Given the description of an element on the screen output the (x, y) to click on. 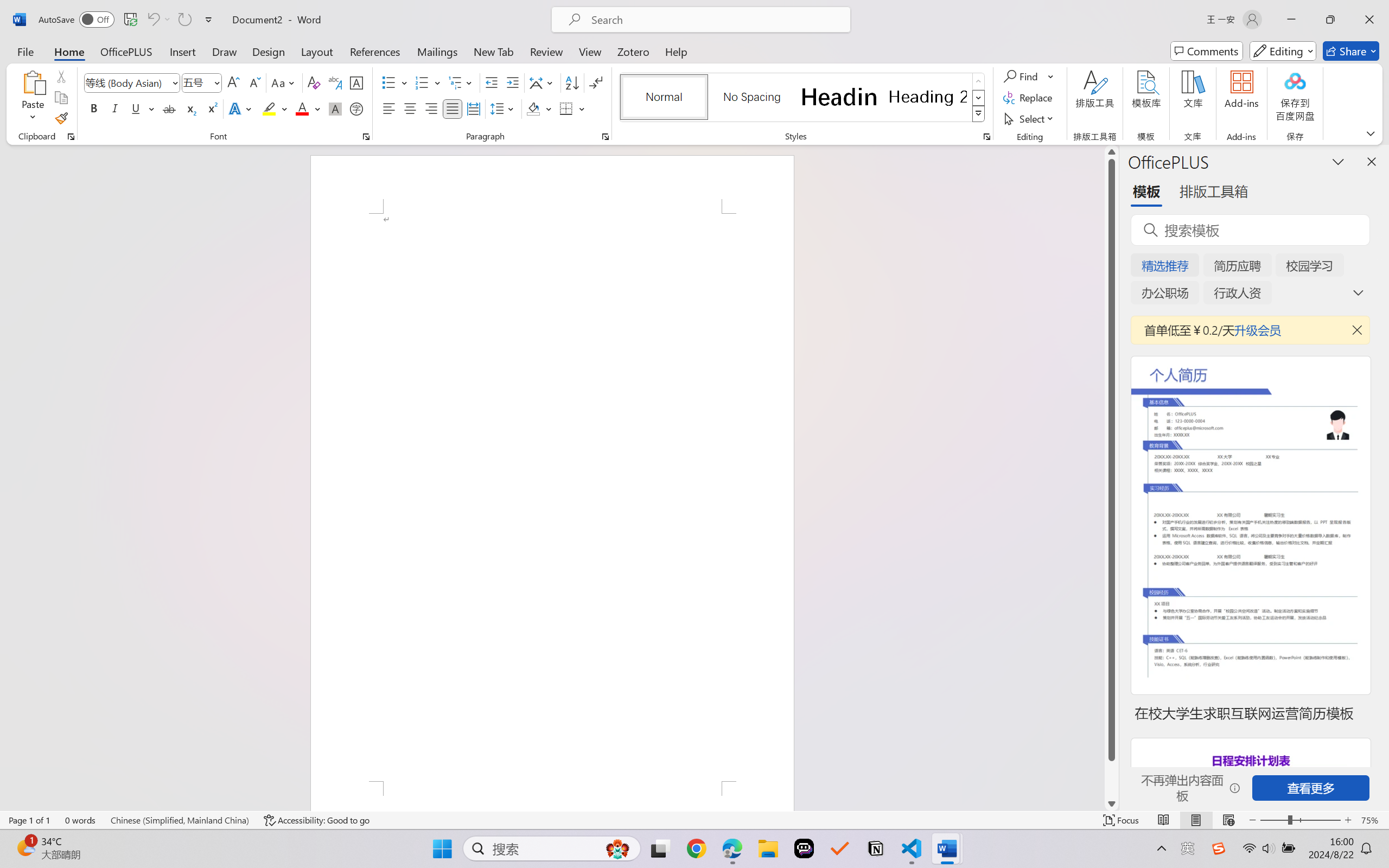
OfficePLUS (126, 51)
Class: MsoCommandBar (694, 819)
Zoom In (1348, 819)
Change Case (284, 82)
Shrink Font (253, 82)
Distributed (473, 108)
Shading RGB(0, 0, 0) (533, 108)
AutomationID: DynamicSearchBoxGleamImage (617, 848)
Close (1369, 19)
Zoom (1300, 819)
Save (130, 19)
Underline (142, 108)
